Given the description of an element on the screen output the (x, y) to click on. 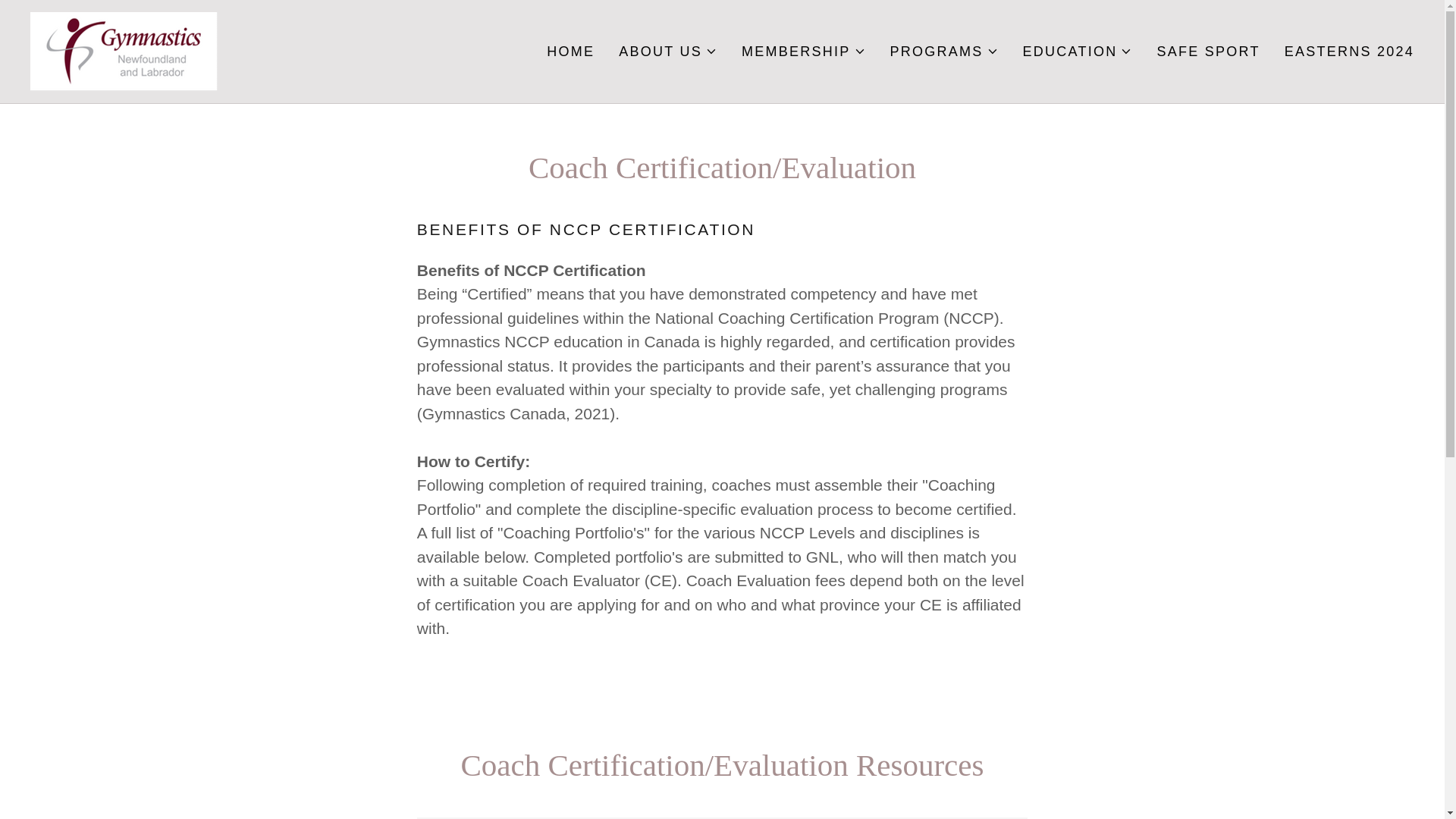
EASTERNS 2024 (1348, 51)
PROGRAMS (943, 51)
MEMBERSHIP (803, 51)
EDUCATION (1077, 51)
SAFE SPORT (1207, 51)
HOME (569, 51)
ABOUT US (667, 51)
